Given the description of an element on the screen output the (x, y) to click on. 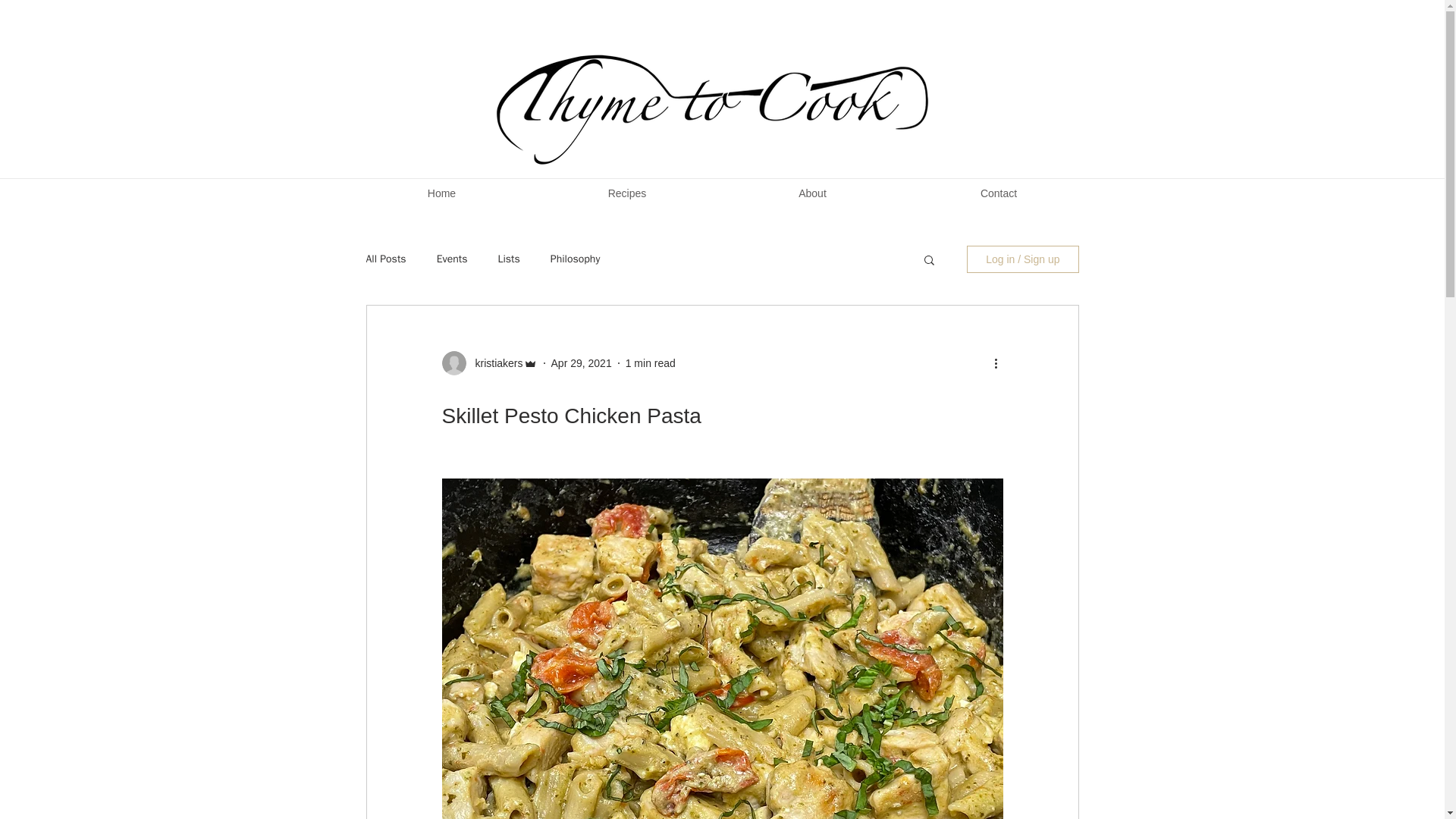
Apr 29, 2021 (581, 362)
Recipes (626, 193)
Home (441, 193)
About (813, 193)
kristiakers (493, 362)
Events (451, 259)
Lists (508, 259)
Contact (999, 193)
Philosophy (574, 259)
All Posts (385, 259)
1 min read (650, 362)
